Given the description of an element on the screen output the (x, y) to click on. 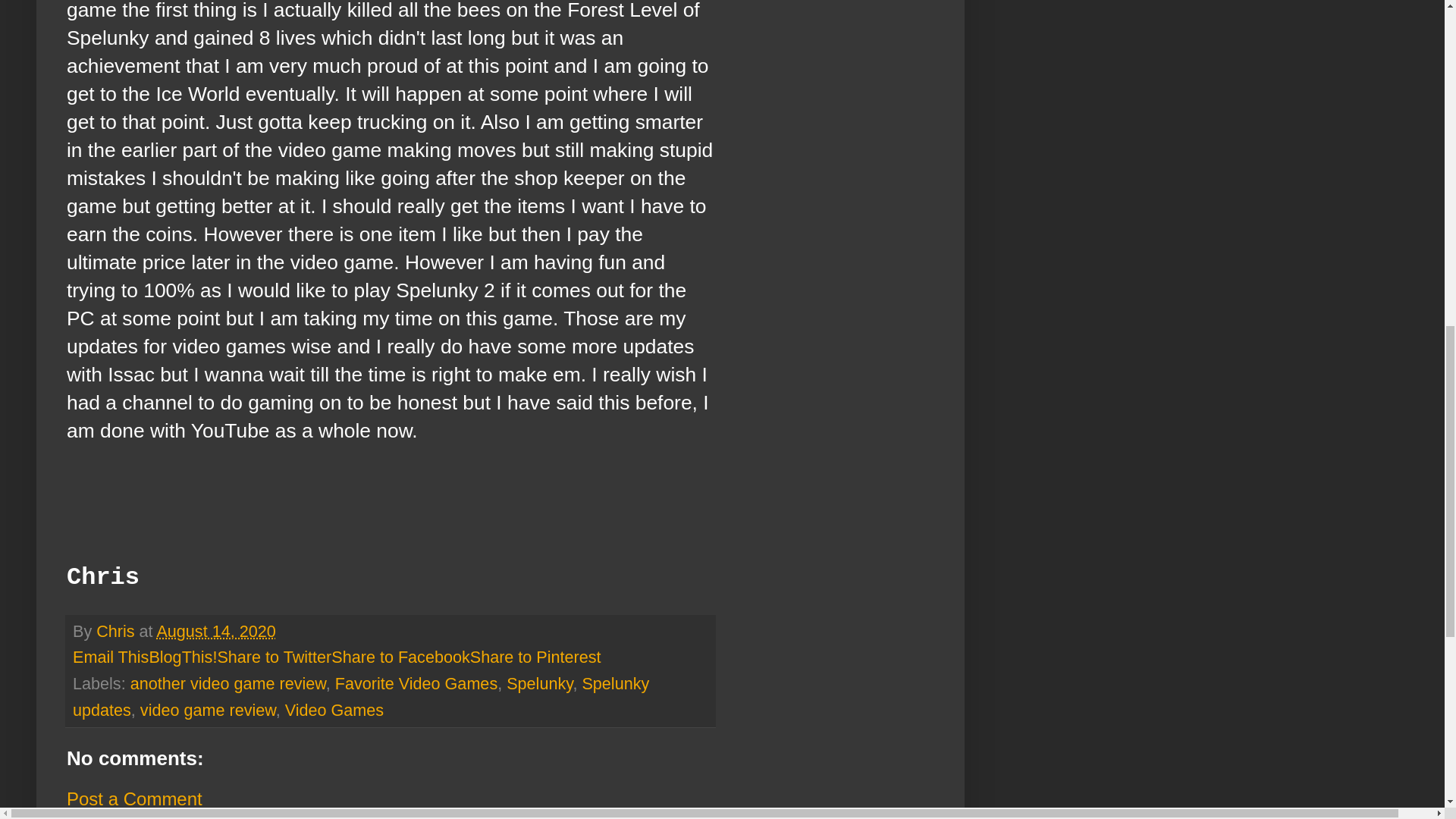
Share to Pinterest (535, 656)
video game review (207, 710)
Share to Pinterest (535, 656)
BlogThis! (182, 656)
August 14, 2020 (215, 630)
permanent link (215, 630)
Share to Facebook (399, 656)
Chris (117, 630)
Favorite Video Games (415, 683)
Email This (110, 656)
Share to Twitter (273, 656)
BlogThis! (182, 656)
Spelunky (539, 683)
Email This (110, 656)
Spelunky updates (360, 696)
